Given the description of an element on the screen output the (x, y) to click on. 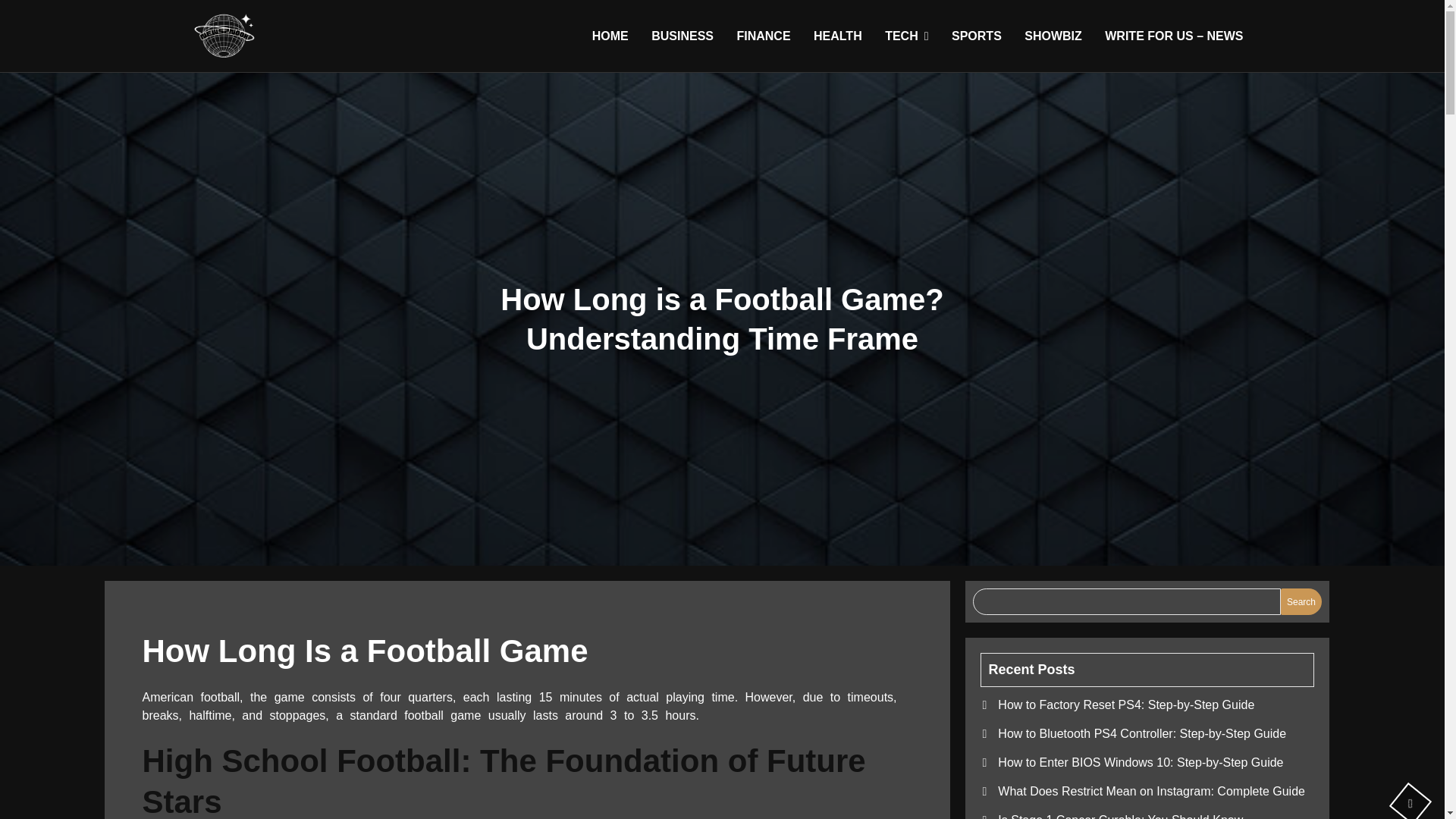
How to Bluetooth PS4 Controller: Step-by-Step Guide (1141, 733)
SHOWBIZ (1053, 36)
HOME (610, 36)
TECH (906, 36)
FINANCE (762, 36)
SPORTS (976, 36)
Newsznook (267, 80)
Search (1300, 601)
How to Factory Reset PS4: Step-by-Step Guide (1125, 704)
HEALTH (837, 36)
